Given the description of an element on the screen output the (x, y) to click on. 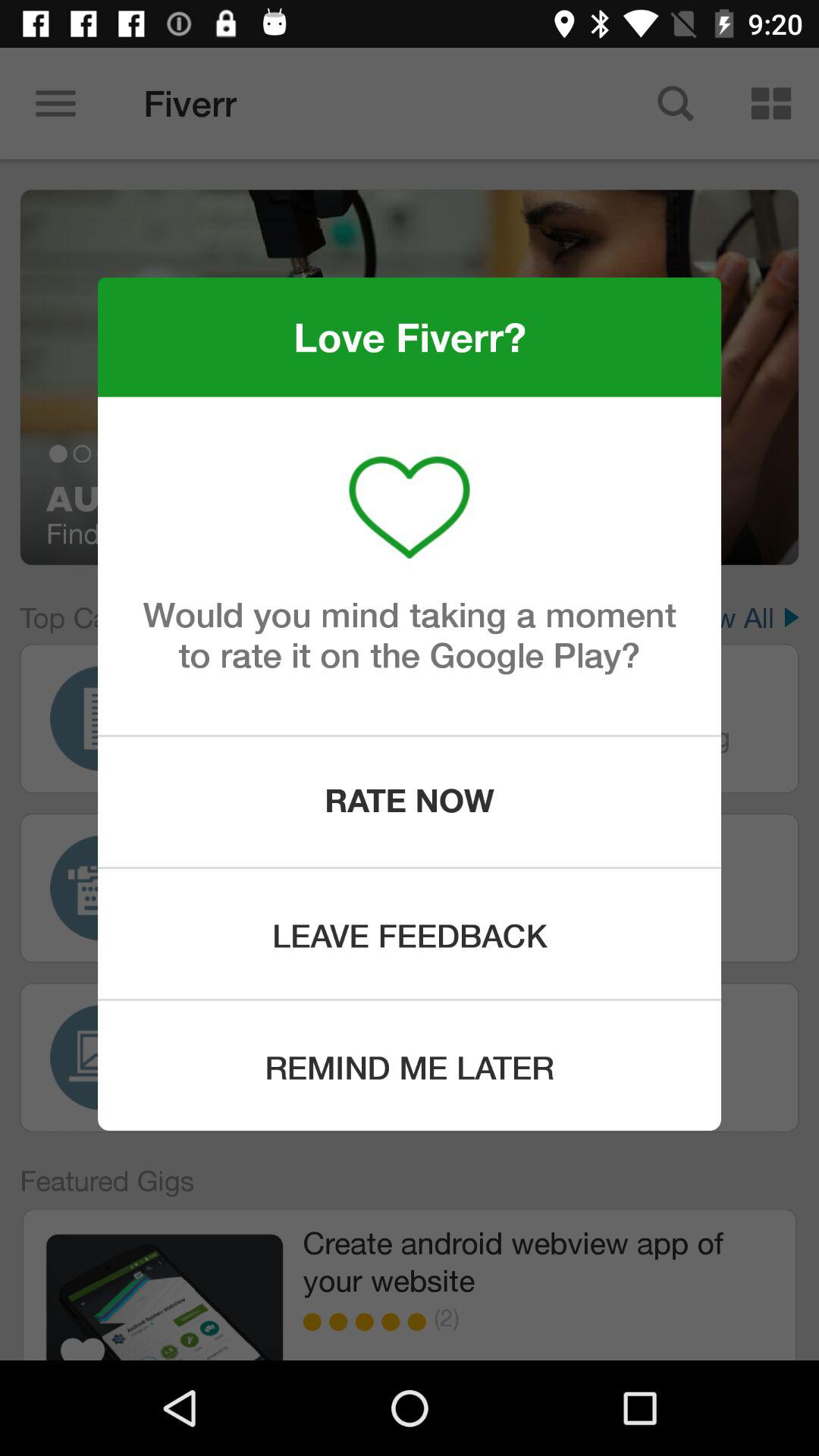
turn on the remind me later (409, 1065)
